Given the description of an element on the screen output the (x, y) to click on. 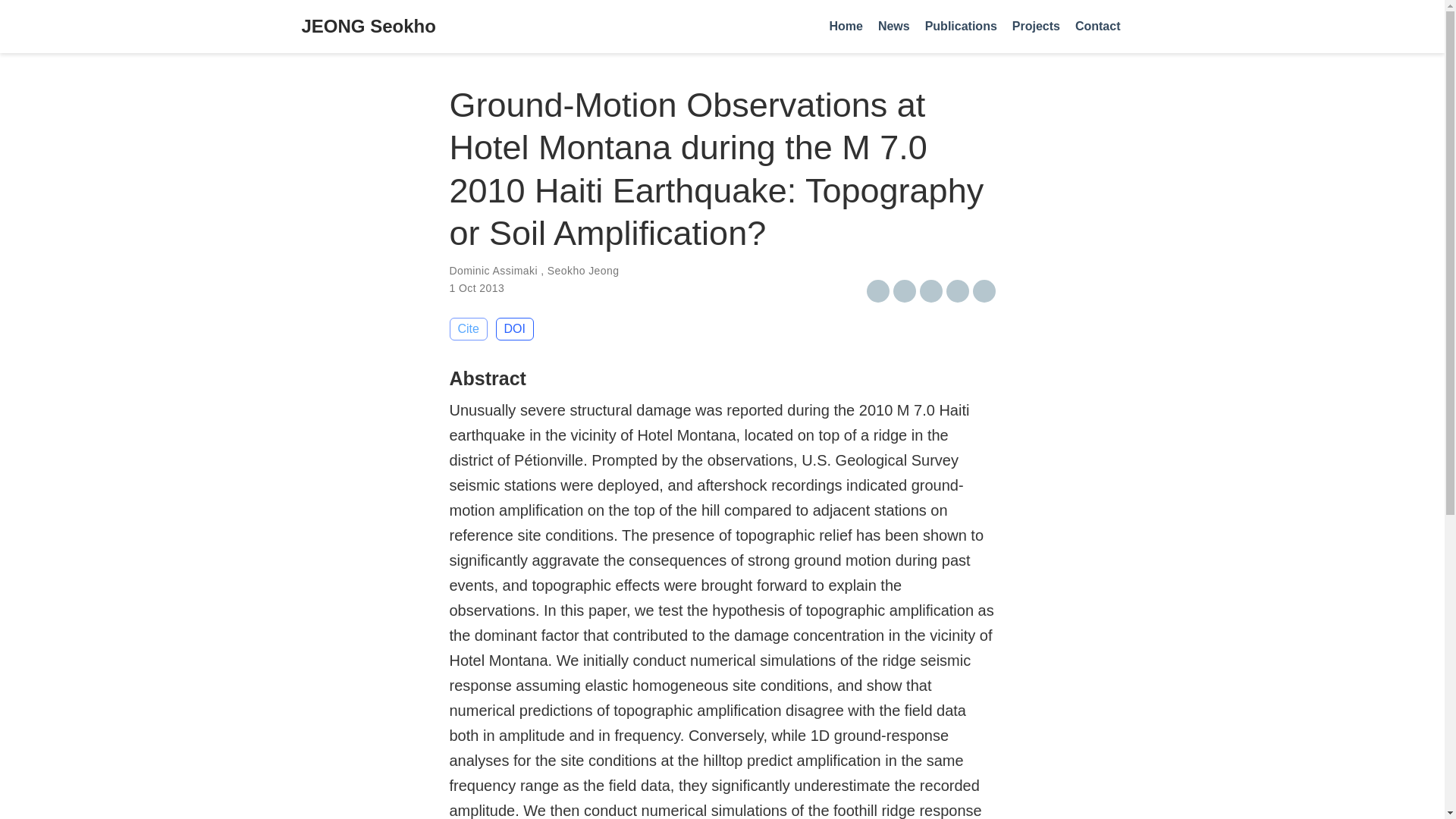
News (893, 26)
Contact (1097, 26)
Cite (467, 328)
Home (845, 26)
JEONG Seokho (368, 26)
DOI (515, 328)
Projects (1035, 26)
Publications (960, 26)
